Given the description of an element on the screen output the (x, y) to click on. 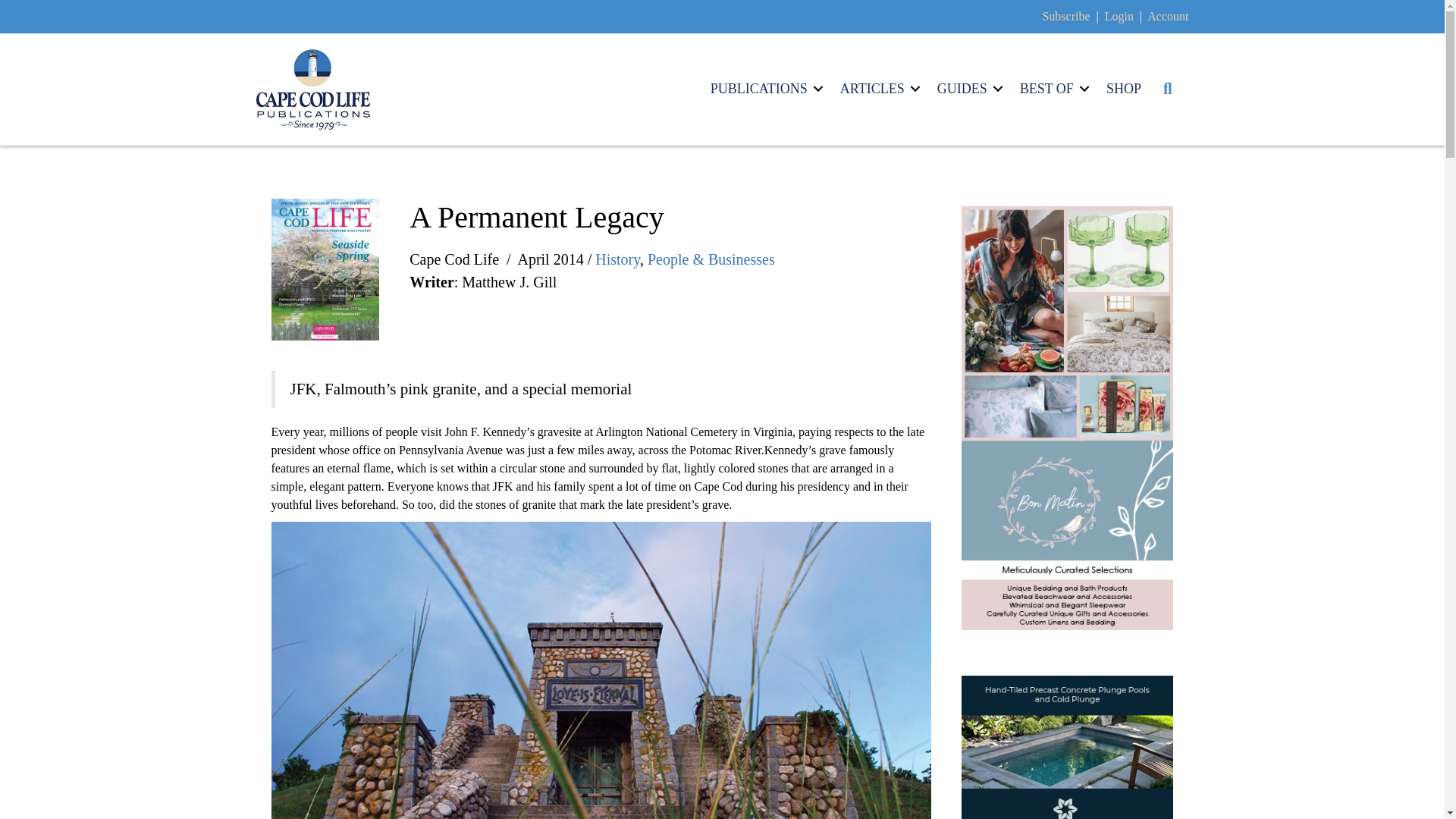
Account (1167, 15)
Subscribe (1065, 15)
Login (1119, 15)
GUIDES (967, 88)
PUBLICATIONS (764, 88)
ARTICLES (877, 88)
BEST OF (1051, 88)
